Given the description of an element on the screen output the (x, y) to click on. 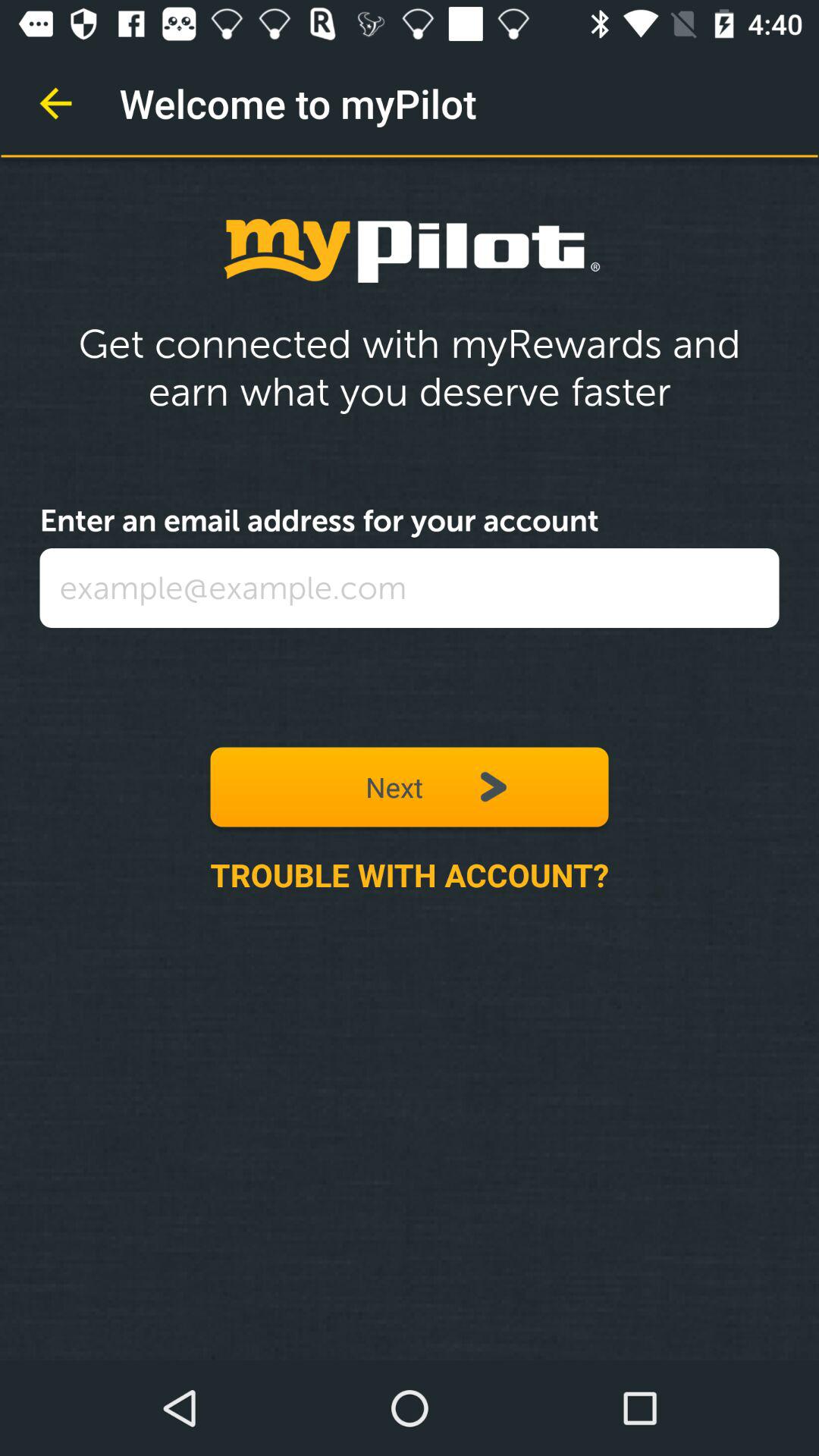
tap the icon above next icon (409, 587)
